Given the description of an element on the screen output the (x, y) to click on. 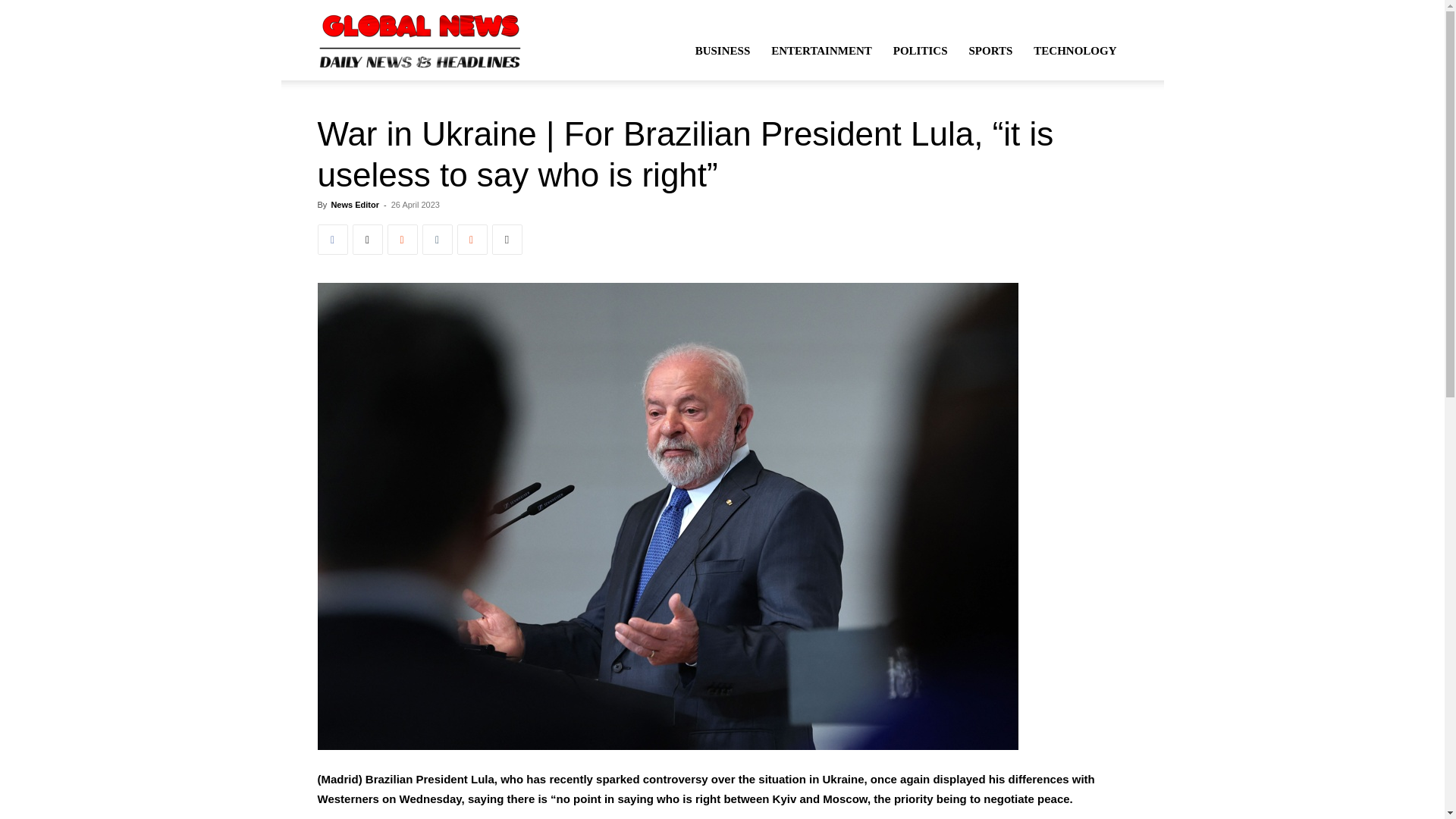
SPORTS (990, 50)
Twitter (366, 239)
TECHNOLOGY (1074, 50)
BUSINESS (722, 50)
News Editor (354, 204)
Mix (471, 239)
The Global Domain News (419, 39)
POLITICS (920, 50)
Print (506, 239)
Facebook (332, 239)
ReddIt (401, 239)
Tumblr (436, 239)
ENTERTAINMENT (821, 50)
